Given the description of an element on the screen output the (x, y) to click on. 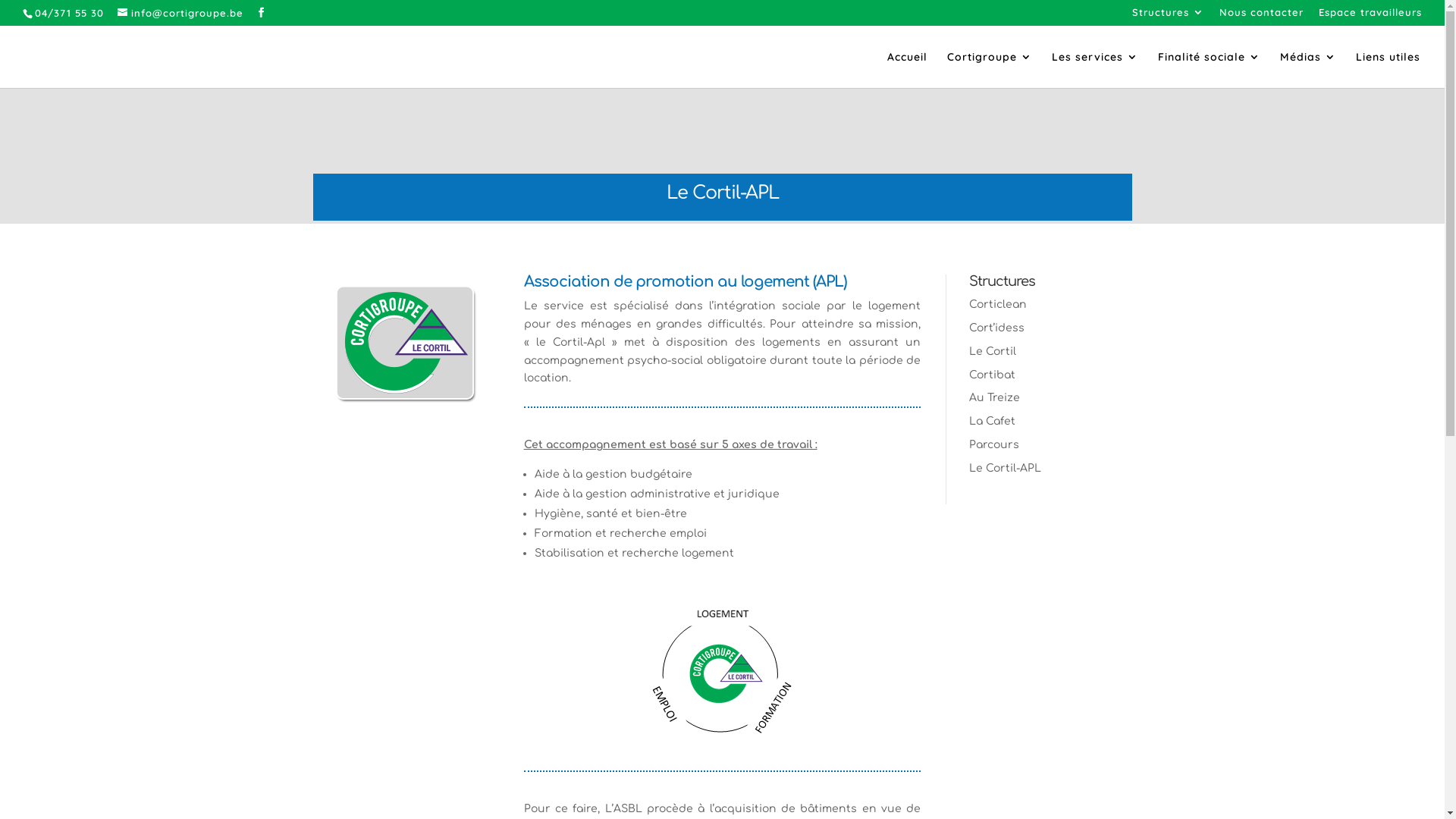
Les services Element type: text (1094, 69)
Au Treize Element type: text (994, 397)
Cortibat Element type: text (992, 374)
Espace travailleurs Element type: text (1369, 16)
Accueil Element type: text (907, 69)
Cortigroupe Element type: text (989, 69)
info@cortigroupe.be Element type: text (180, 12)
Le Cortil-APL Element type: text (1005, 467)
Le Cortil Element type: text (992, 351)
Nous contacter Element type: text (1261, 16)
La Cafet Element type: text (992, 420)
Corticlean Element type: text (997, 304)
Parcours Element type: text (994, 444)
Structures Element type: text (1168, 16)
Liens utiles Element type: text (1387, 69)
